Given the description of an element on the screen output the (x, y) to click on. 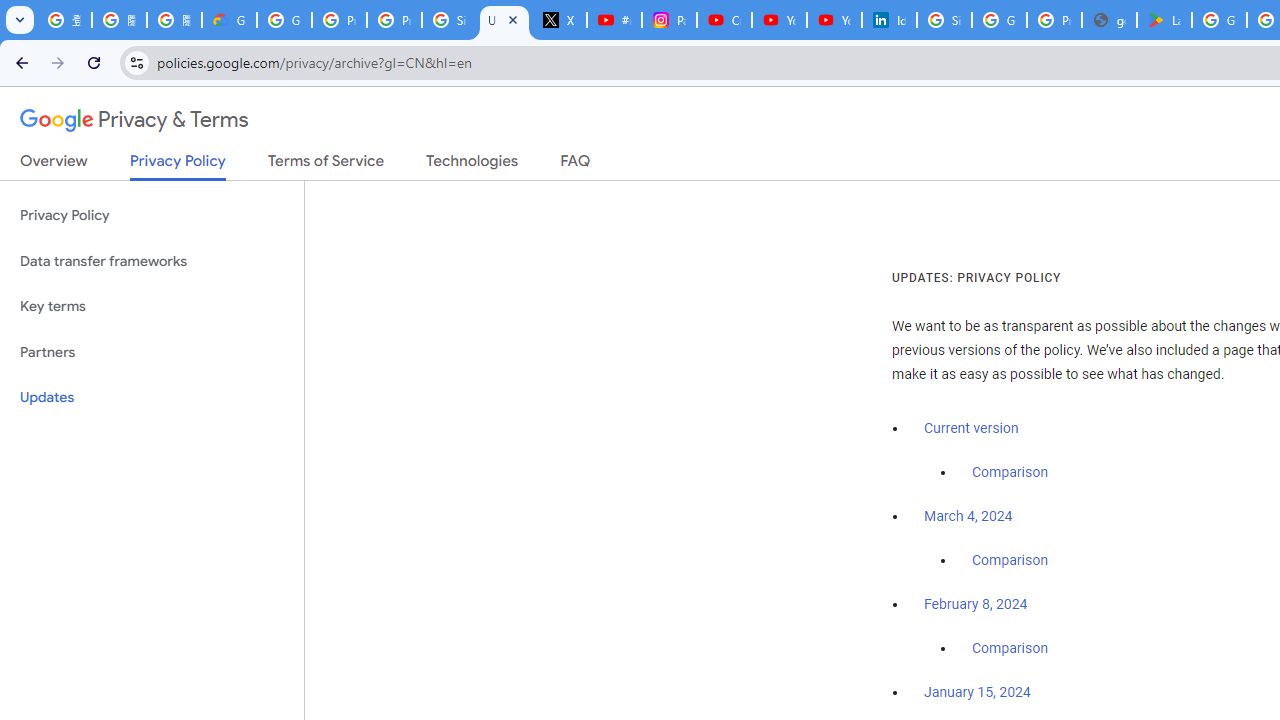
March 4, 2024 (968, 517)
Current version (971, 428)
Last Shelter: Survival - Apps on Google Play (1163, 20)
